Given the description of an element on the screen output the (x, y) to click on. 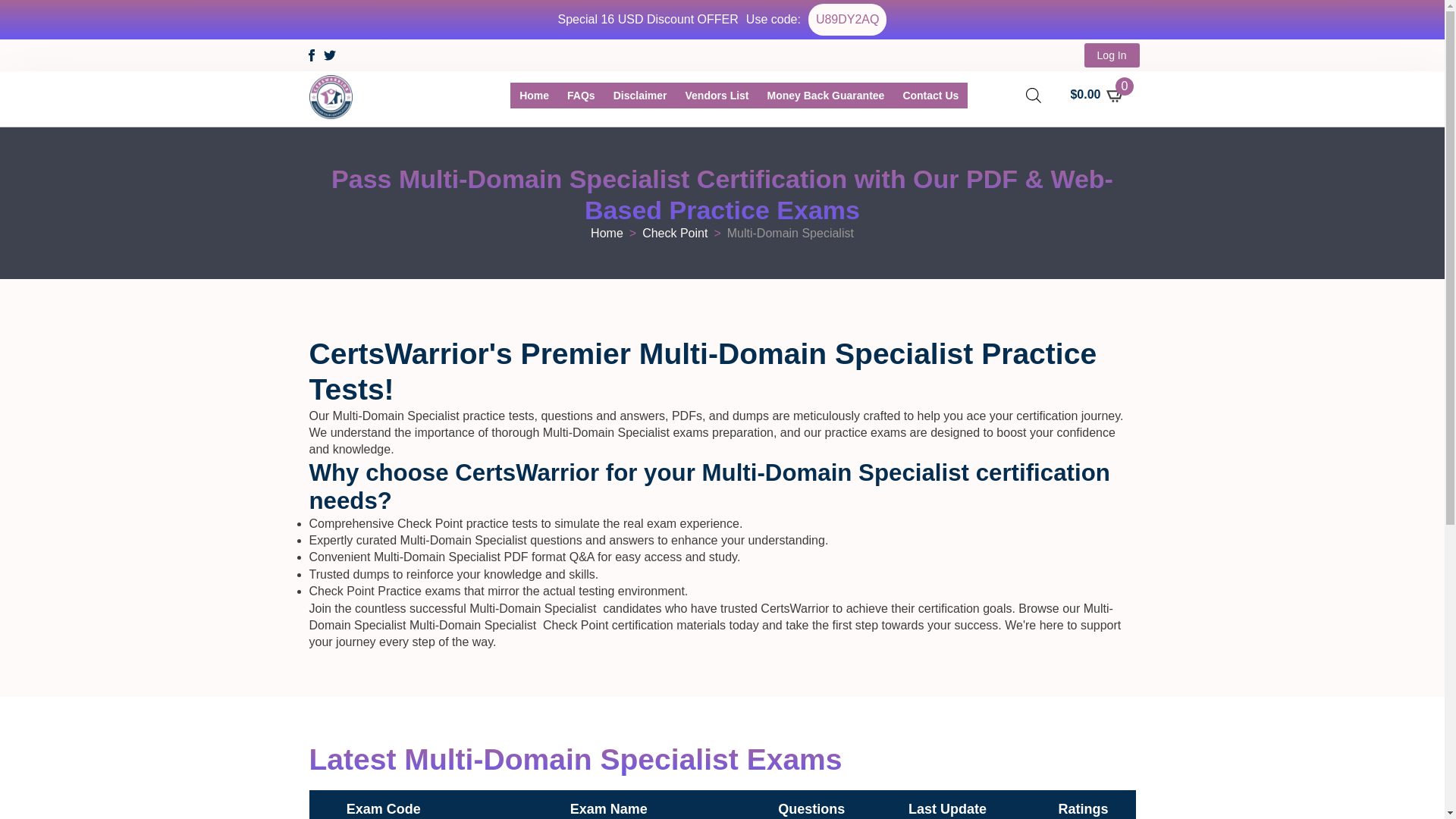
FAQs (580, 95)
Money Back Guarantee (825, 95)
CertsWarrior (534, 95)
Disclaimer (640, 95)
Exam Code (383, 809)
Home (607, 233)
Log In (1112, 55)
Contact Us (930, 95)
Contact Us (930, 95)
Disclaimer (640, 95)
